Given the description of an element on the screen output the (x, y) to click on. 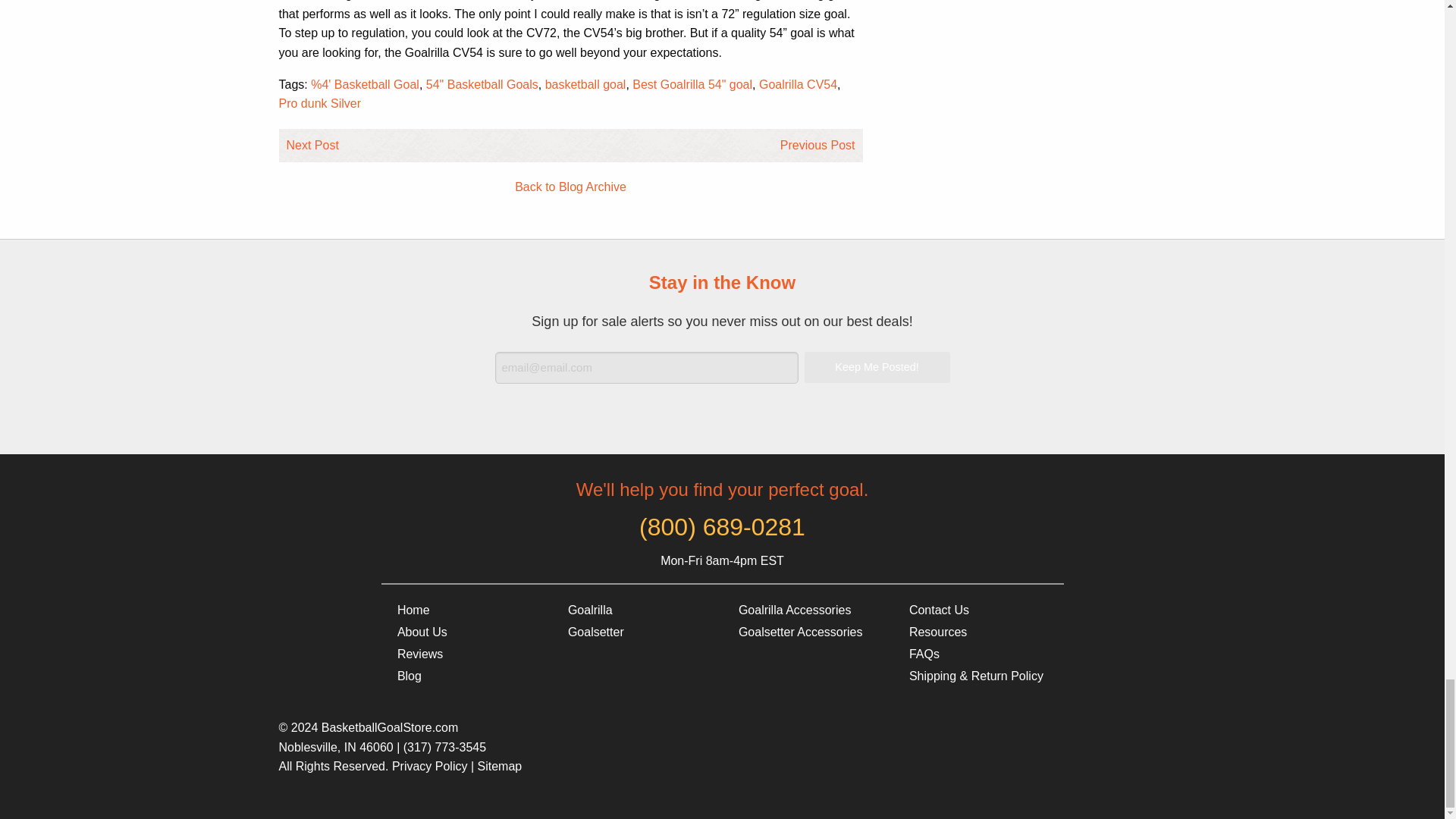
BasketballGoalStore.com (466, 610)
Goalsetter (636, 632)
Keep Me Posted! (876, 367)
Goalrilla (636, 610)
Blog (466, 676)
BasketballGoalStore.com Reviews (466, 654)
